Given the description of an element on the screen output the (x, y) to click on. 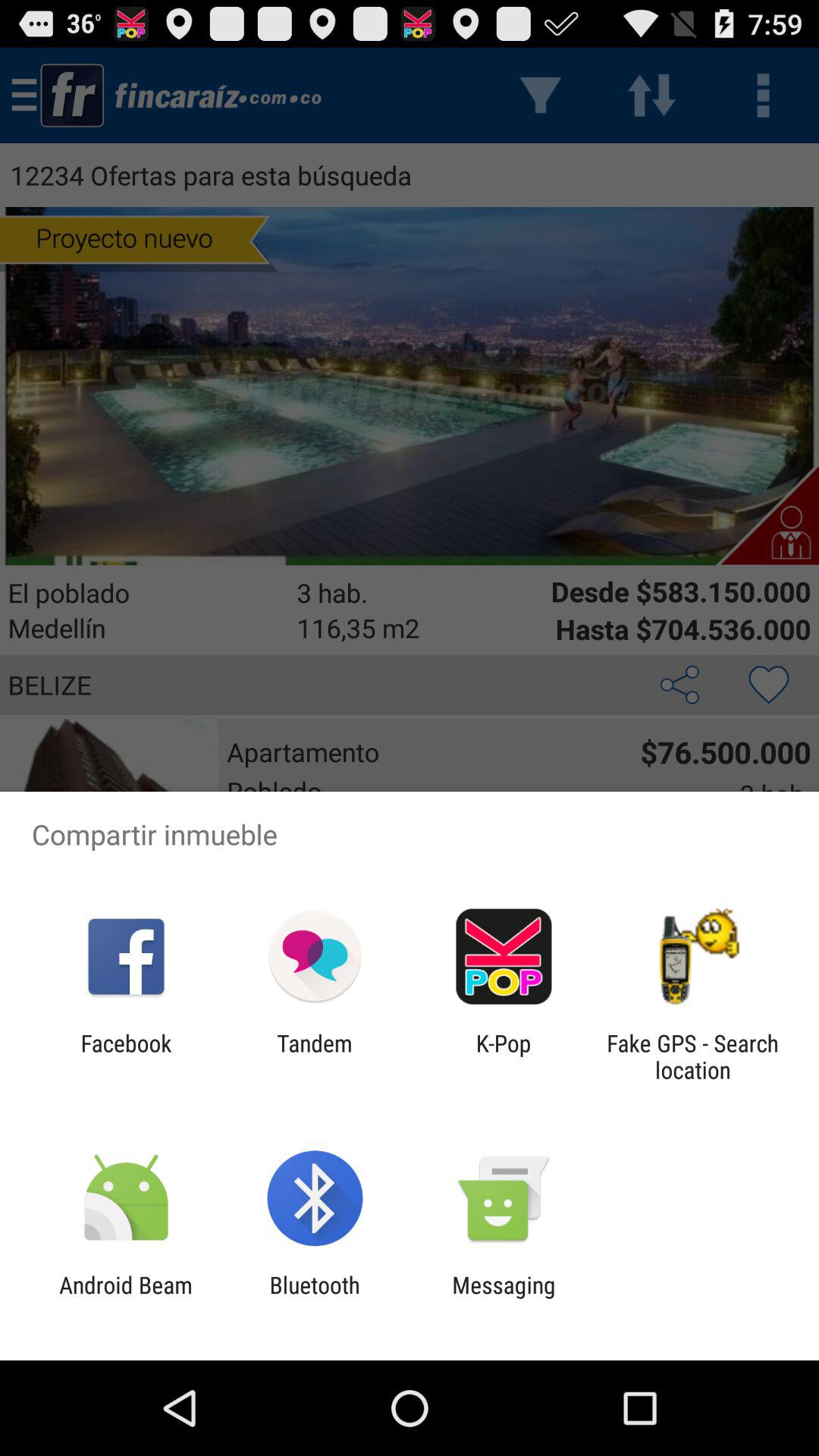
choose icon next to facebook app (314, 1056)
